Given the description of an element on the screen output the (x, y) to click on. 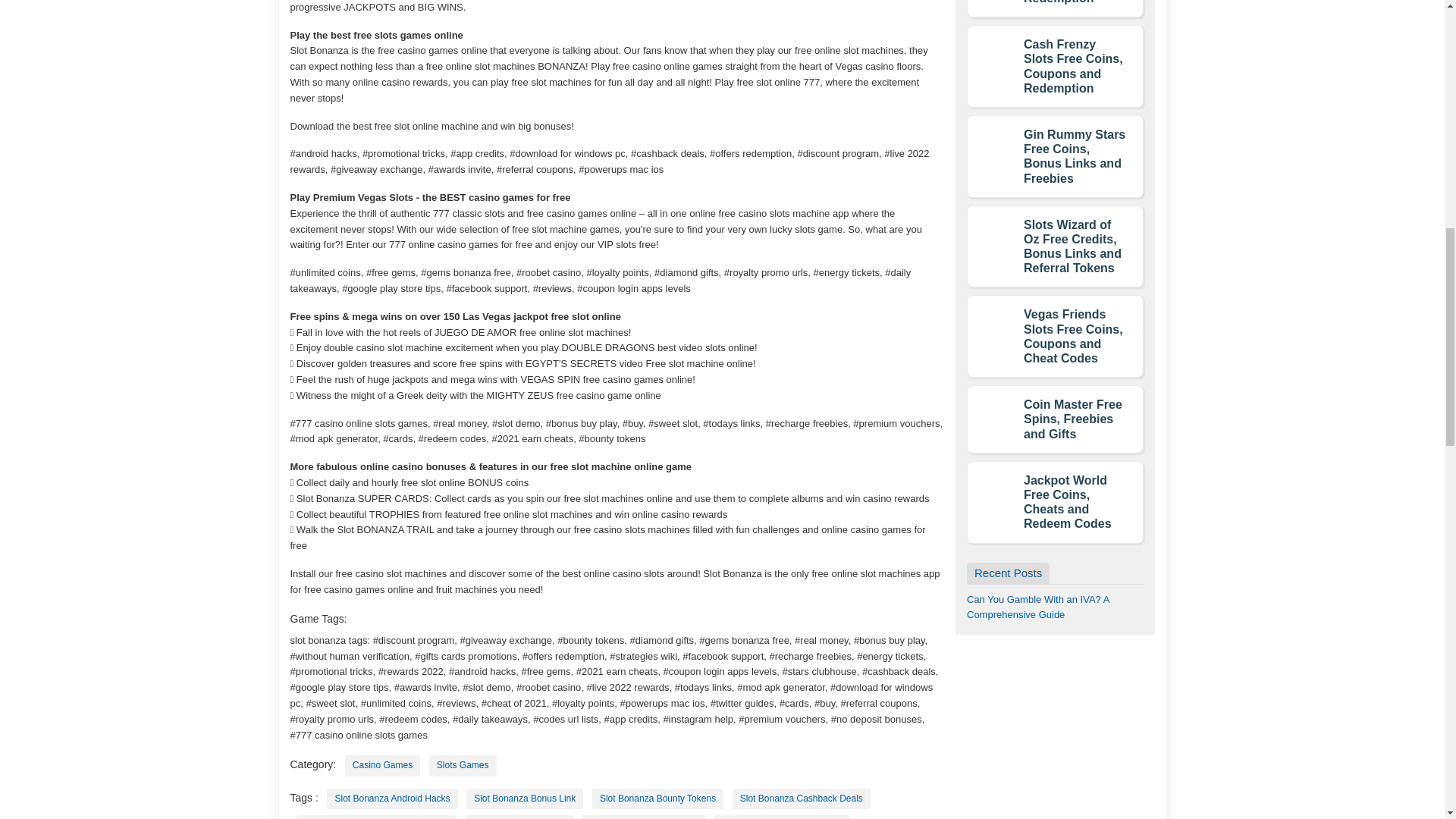
Casino Games (382, 765)
Slot Bonanza Daily Credits (642, 816)
Slot Bonanza Coupons (518, 816)
Slot Bonanza Discount Codes (782, 816)
Slots Games (462, 765)
Slot Bonanza Android Hacks (391, 798)
Slot Bonanza Bonus Link (524, 798)
Slot Bonanza Bounty Tokens (657, 798)
Slot Bonanza Cashback Deals (801, 798)
Slot Bonanza Cheat Codes Of 2021 (375, 816)
